Given the description of an element on the screen output the (x, y) to click on. 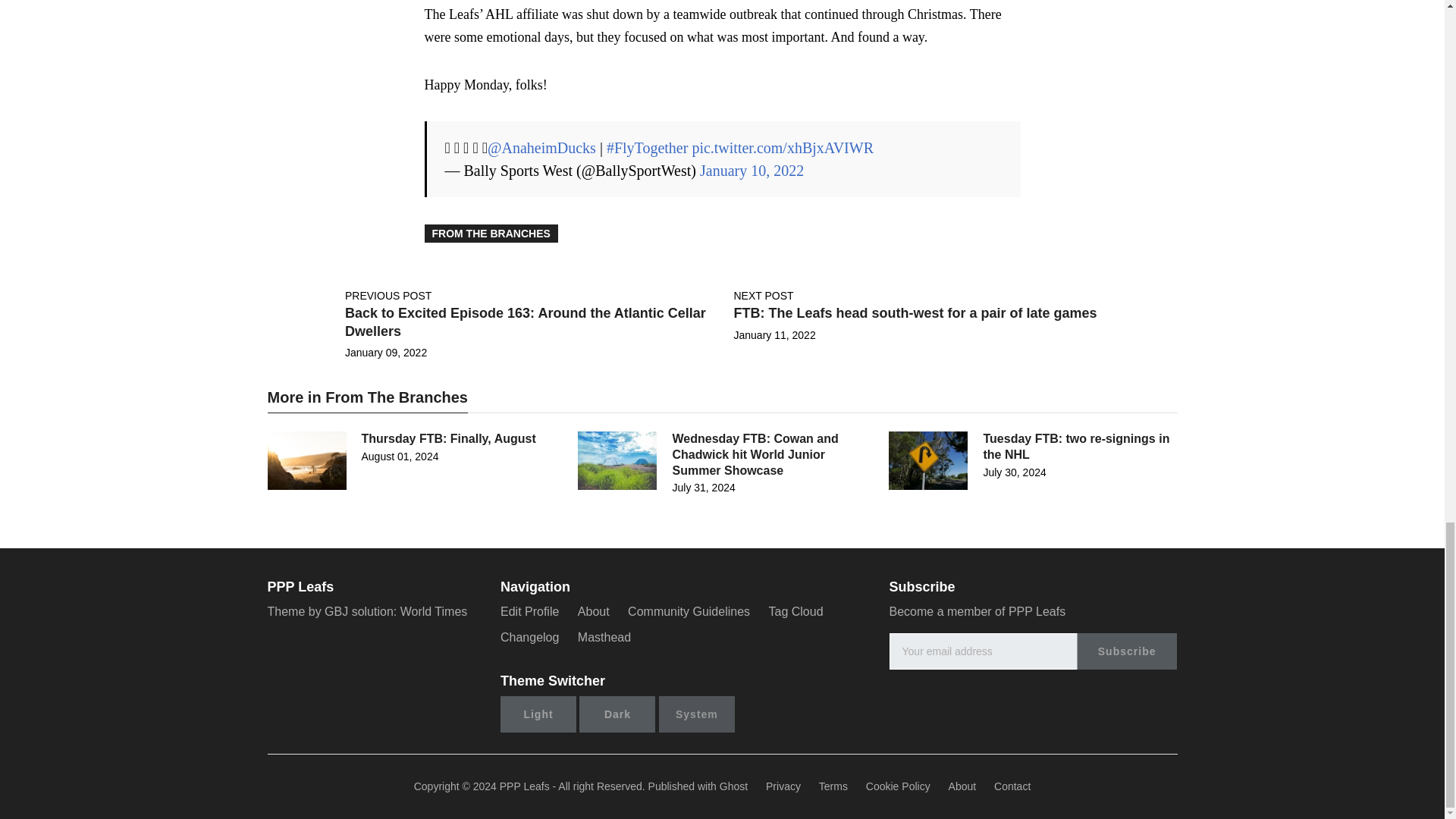
31 July, 2024 (703, 487)
01 August, 2024 (399, 456)
11 January, 2022 (774, 335)
30 July, 2024 (1013, 472)
09 January, 2022 (385, 352)
